Given the description of an element on the screen output the (x, y) to click on. 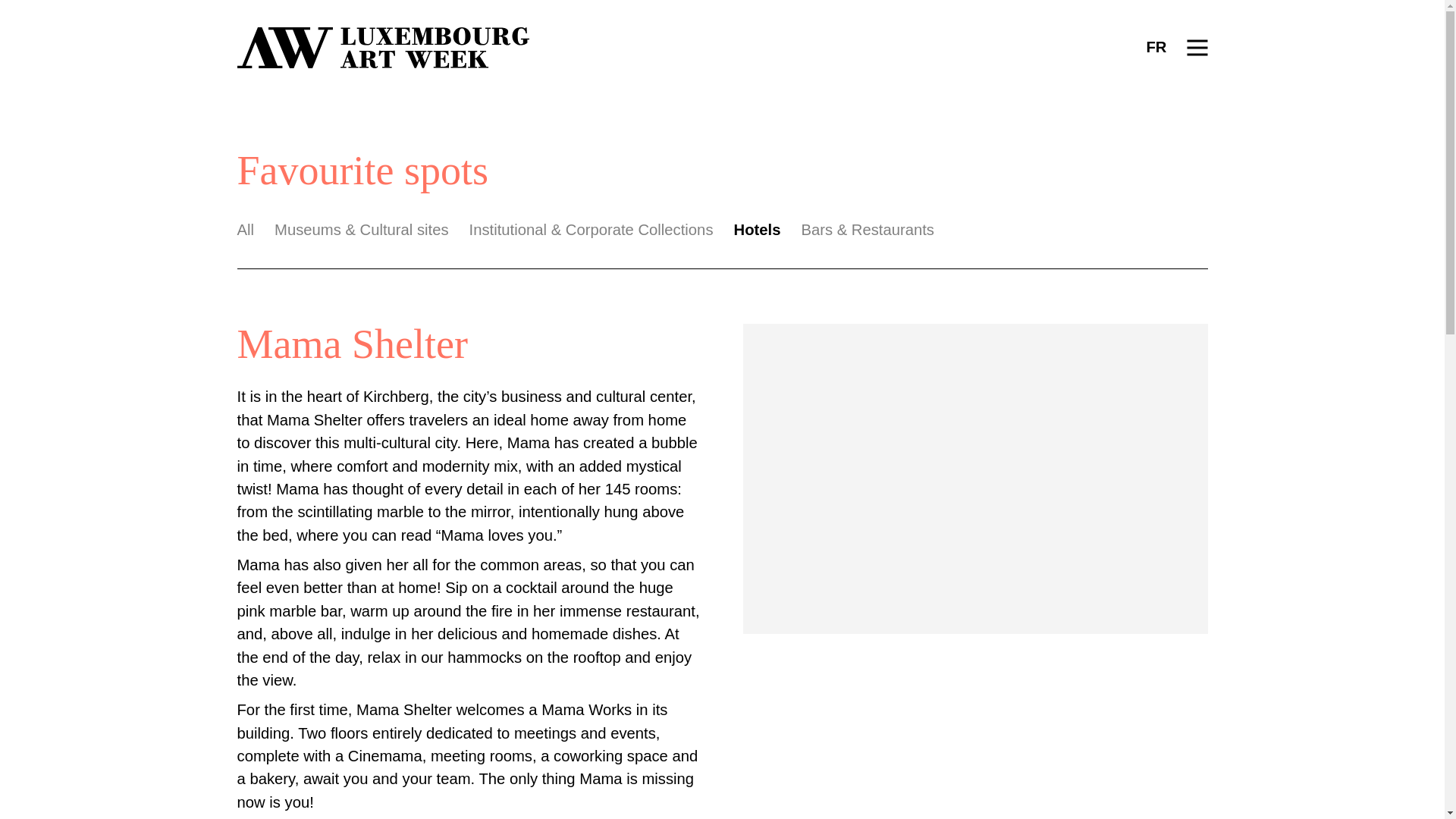
Hotels (756, 229)
